Given the description of an element on the screen output the (x, y) to click on. 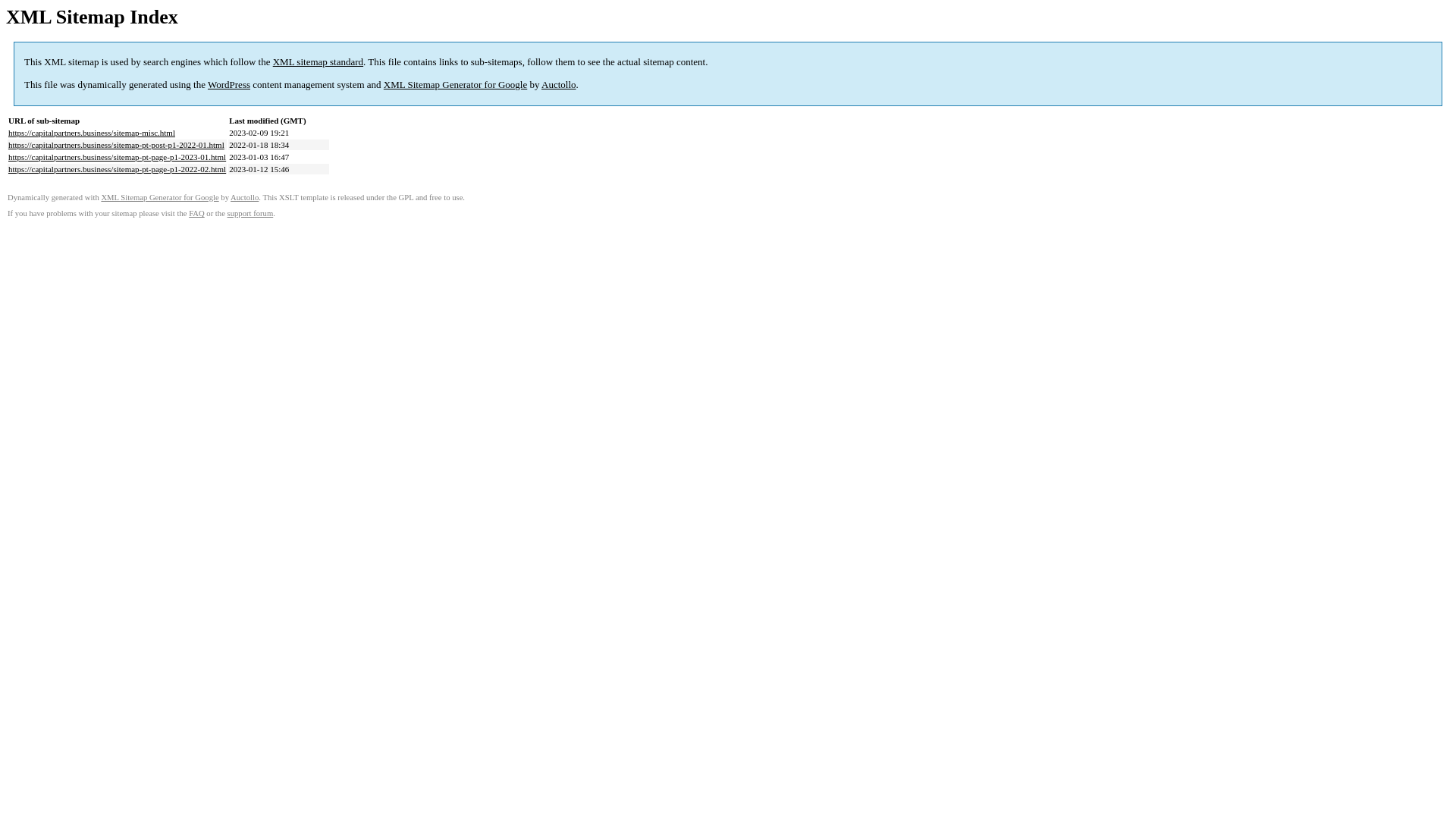
Auctollo Element type: text (558, 84)
https://capitalpartners.business/sitemap-misc.html Element type: text (91, 132)
Auctollo Element type: text (244, 197)
XML Sitemap Generator for Google Element type: text (159, 197)
WordPress Element type: text (228, 84)
support forum Element type: text (250, 213)
XML sitemap standard Element type: text (318, 61)
XML Sitemap Generator for Google Element type: text (455, 84)
FAQ Element type: text (196, 213)
